Given the description of an element on the screen output the (x, y) to click on. 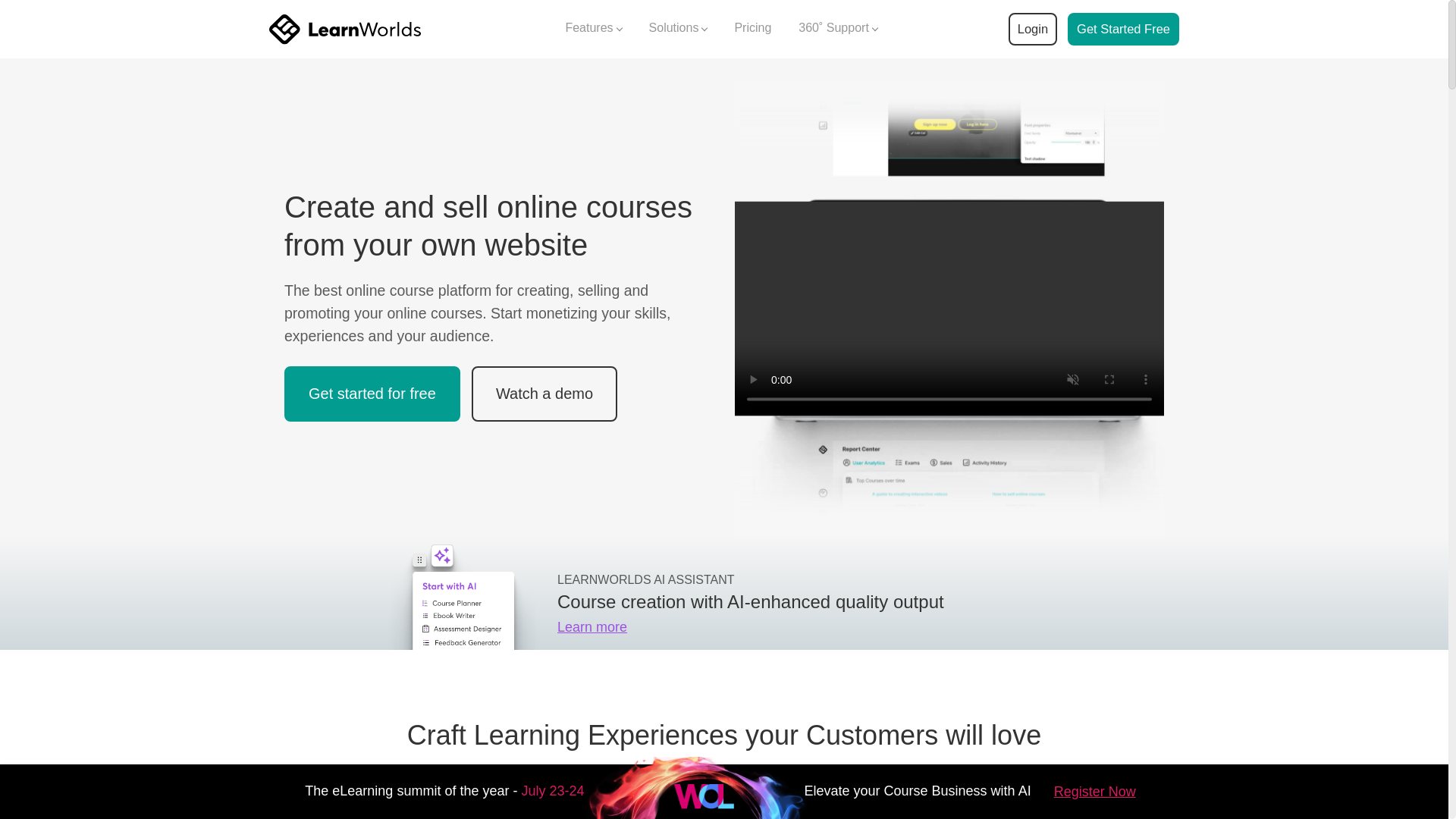
LearnWorlds home (344, 28)
Start your demo with LearnWorlds (1123, 29)
Login to your LearnWorlds account (1032, 29)
Features (592, 29)
